Given the description of an element on the screen output the (x, y) to click on. 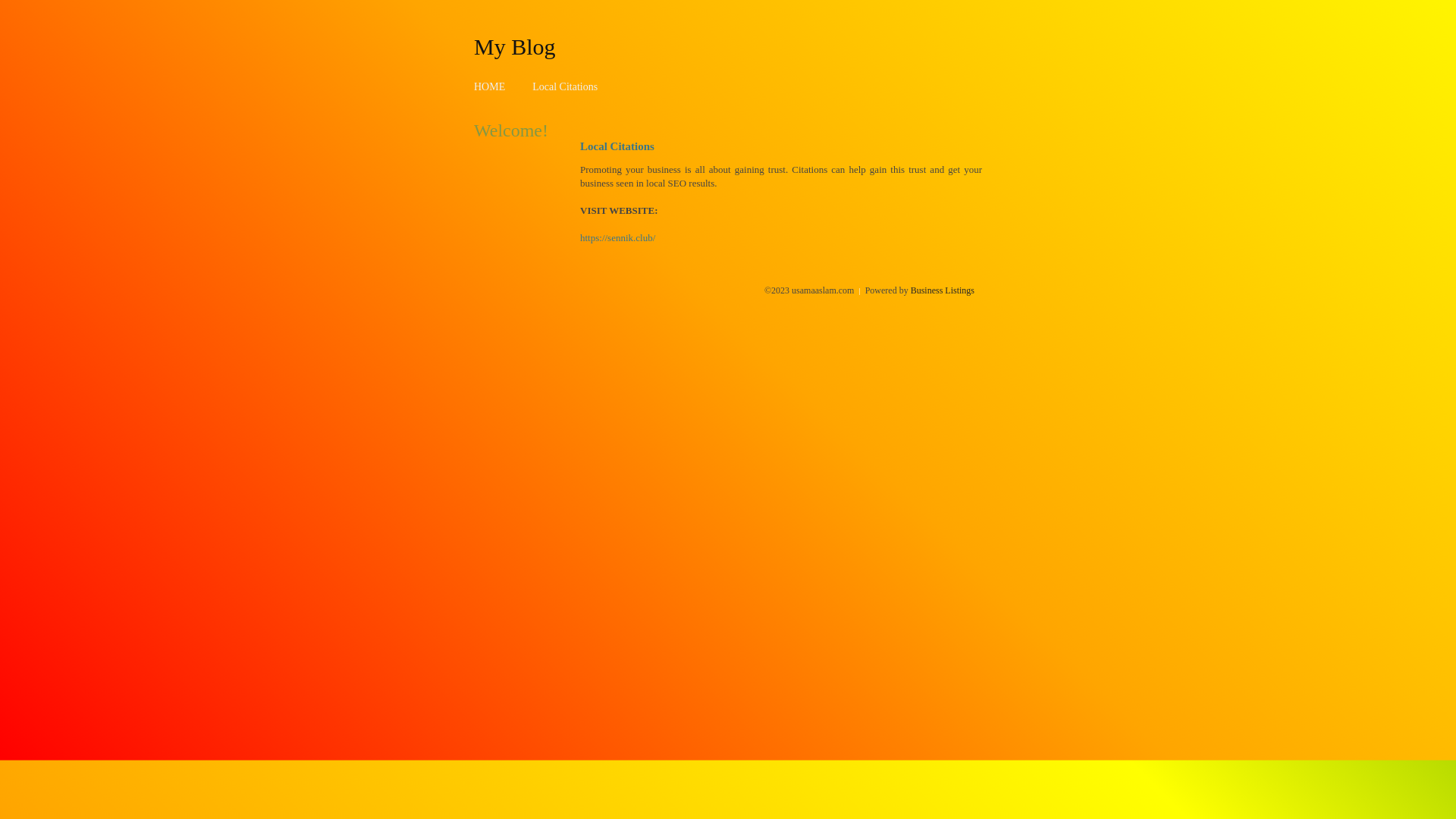
Local Citations Element type: text (564, 86)
My Blog Element type: text (514, 46)
https://sennik.club/ Element type: text (617, 237)
HOME Element type: text (489, 86)
Business Listings Element type: text (942, 290)
